Given the description of an element on the screen output the (x, y) to click on. 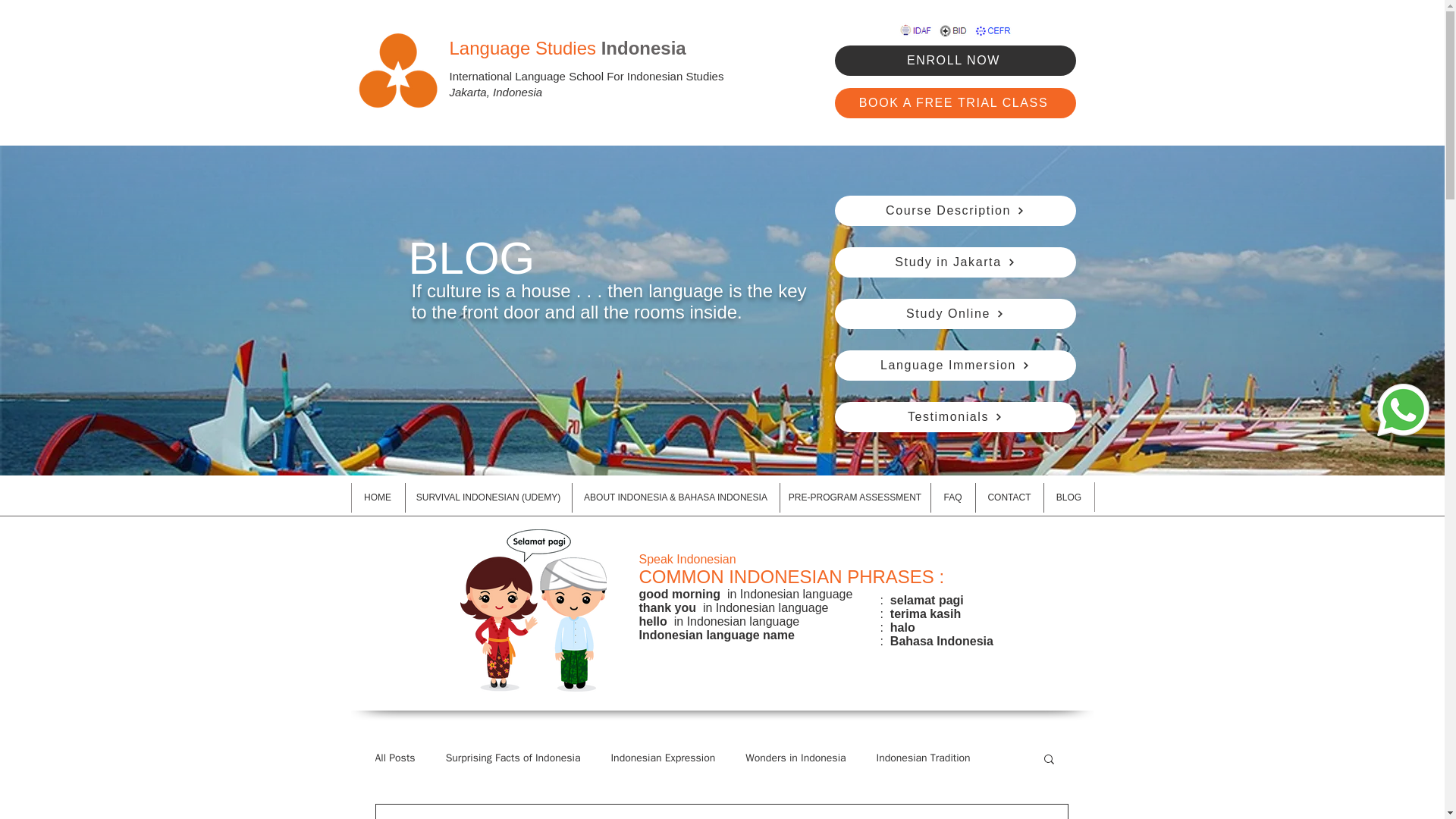
ENROLL NOW (954, 60)
CONTACT (1008, 497)
Indonesian Tradition (923, 757)
All Posts (394, 757)
FAQ (953, 497)
Course Description (954, 210)
Surprising Facts of Indonesia (512, 757)
Study in Jakarta (954, 262)
LANGUAGE STUDIES INDONESIA (397, 70)
Click here to chat with us. (1403, 409)
